Given the description of an element on the screen output the (x, y) to click on. 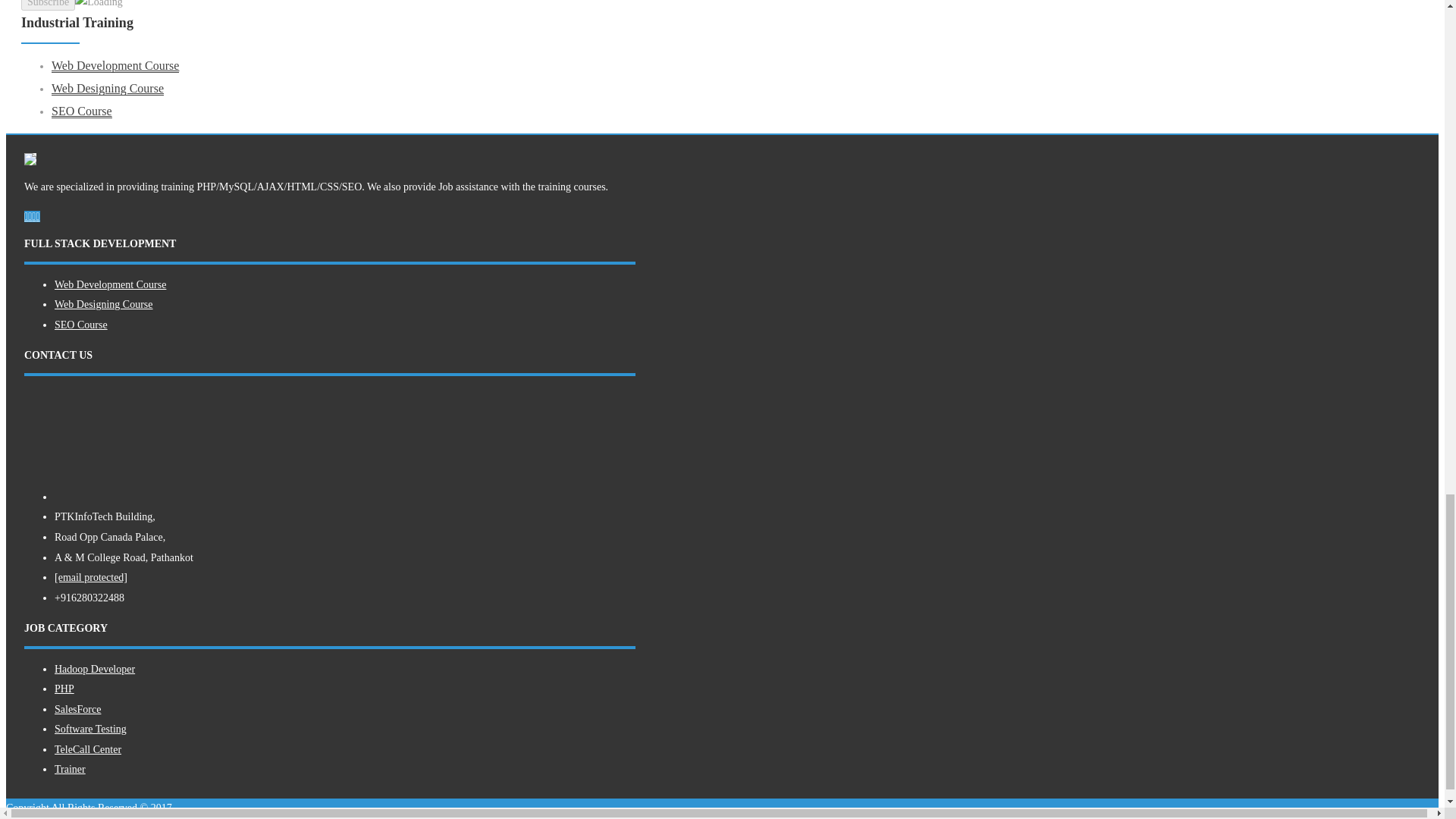
Subscribe (48, 5)
Web Designing Course (103, 304)
SEO Course (81, 110)
 pinterest (33, 215)
Web Designing Course (106, 88)
 facebook (25, 215)
Web Development Course (110, 284)
SEO Course (81, 324)
Subscribe (48, 5)
 instagram (29, 215)
 twitter (36, 215)
Web Development Course (114, 65)
Hadoop Developer (95, 668)
